Given the description of an element on the screen output the (x, y) to click on. 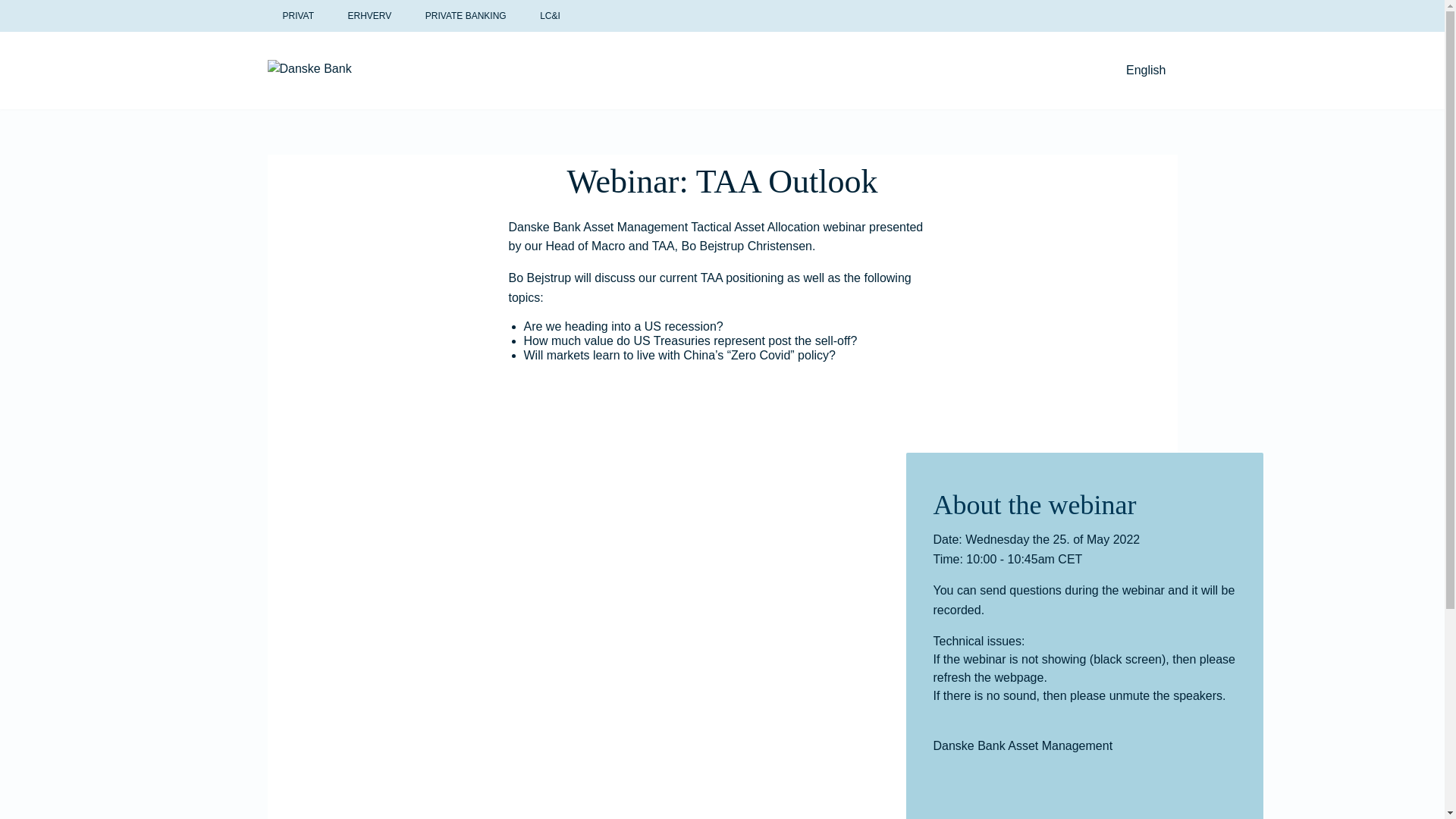
English (1145, 69)
ERHVERV (370, 15)
PRIVATE BANKING (465, 15)
PRIVAT (297, 15)
